Given the description of an element on the screen output the (x, y) to click on. 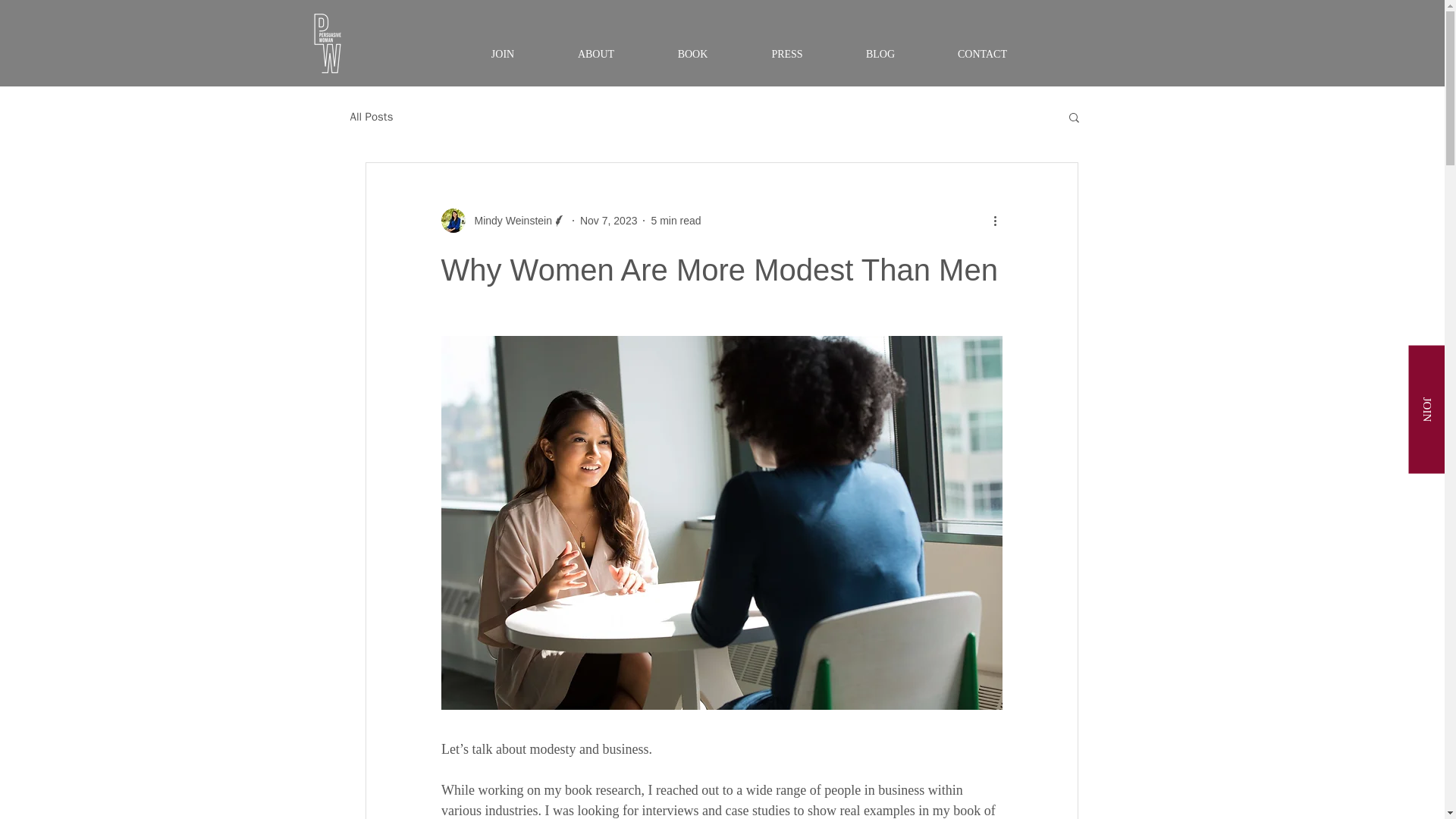
BLOG (880, 53)
Nov 7, 2023 (608, 219)
All Posts (371, 115)
5 min read (675, 219)
BOOK (692, 53)
ABOUT (595, 53)
Mindy Weinstein (508, 220)
JOIN (503, 53)
CONTACT (982, 53)
PRESS (786, 53)
